Given the description of an element on the screen output the (x, y) to click on. 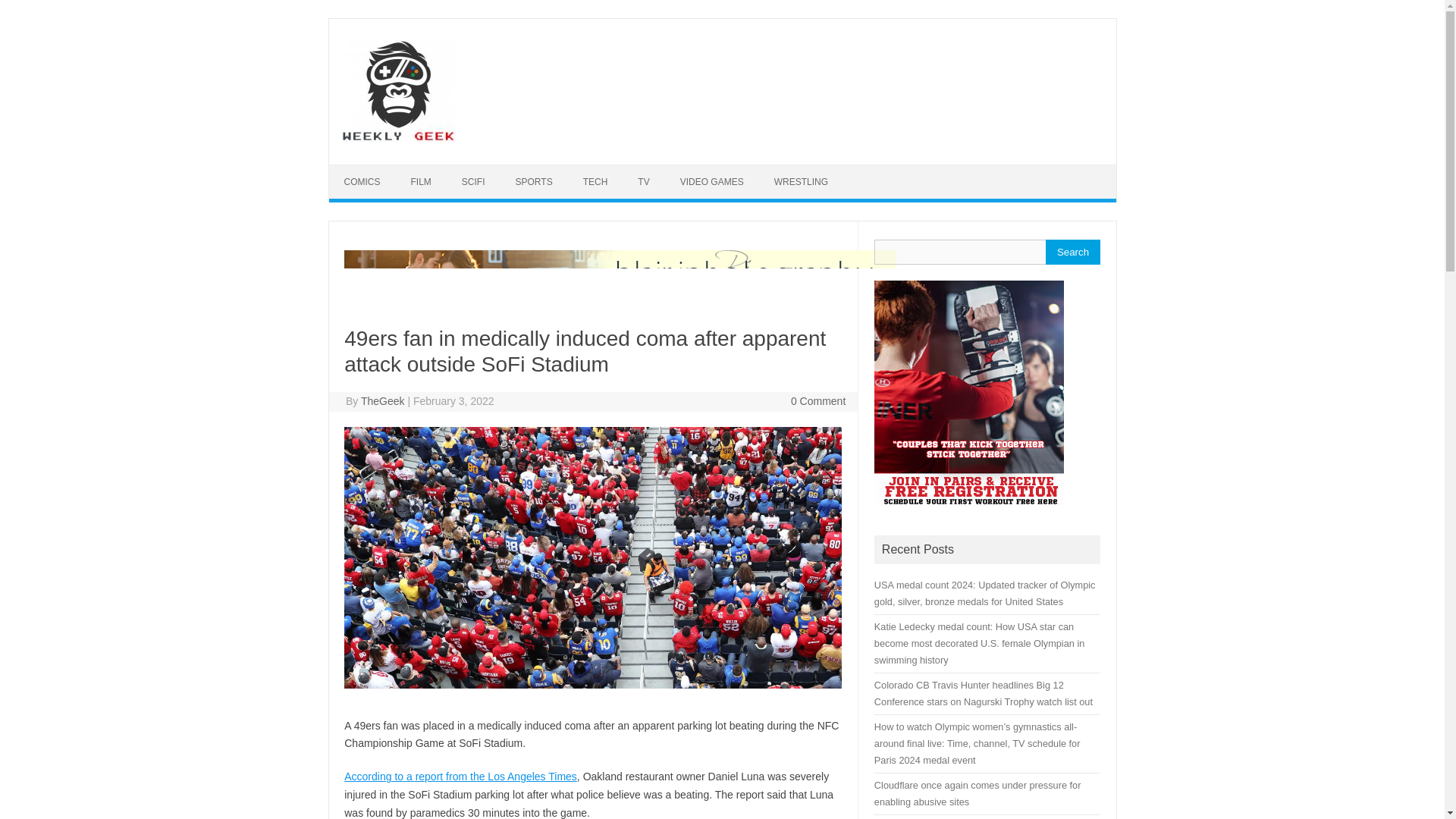
According to a report from the Los Angeles Times (459, 776)
COMICS (362, 182)
TV (643, 182)
0 Comment (817, 400)
Search (1072, 251)
Posts by TheGeek (382, 400)
FILM (421, 182)
SCIFI (473, 182)
TECH (595, 182)
WRESTLING (800, 182)
VIDEO GAMES (711, 182)
Weekly Geek (397, 138)
Search (1072, 251)
